Given the description of an element on the screen output the (x, y) to click on. 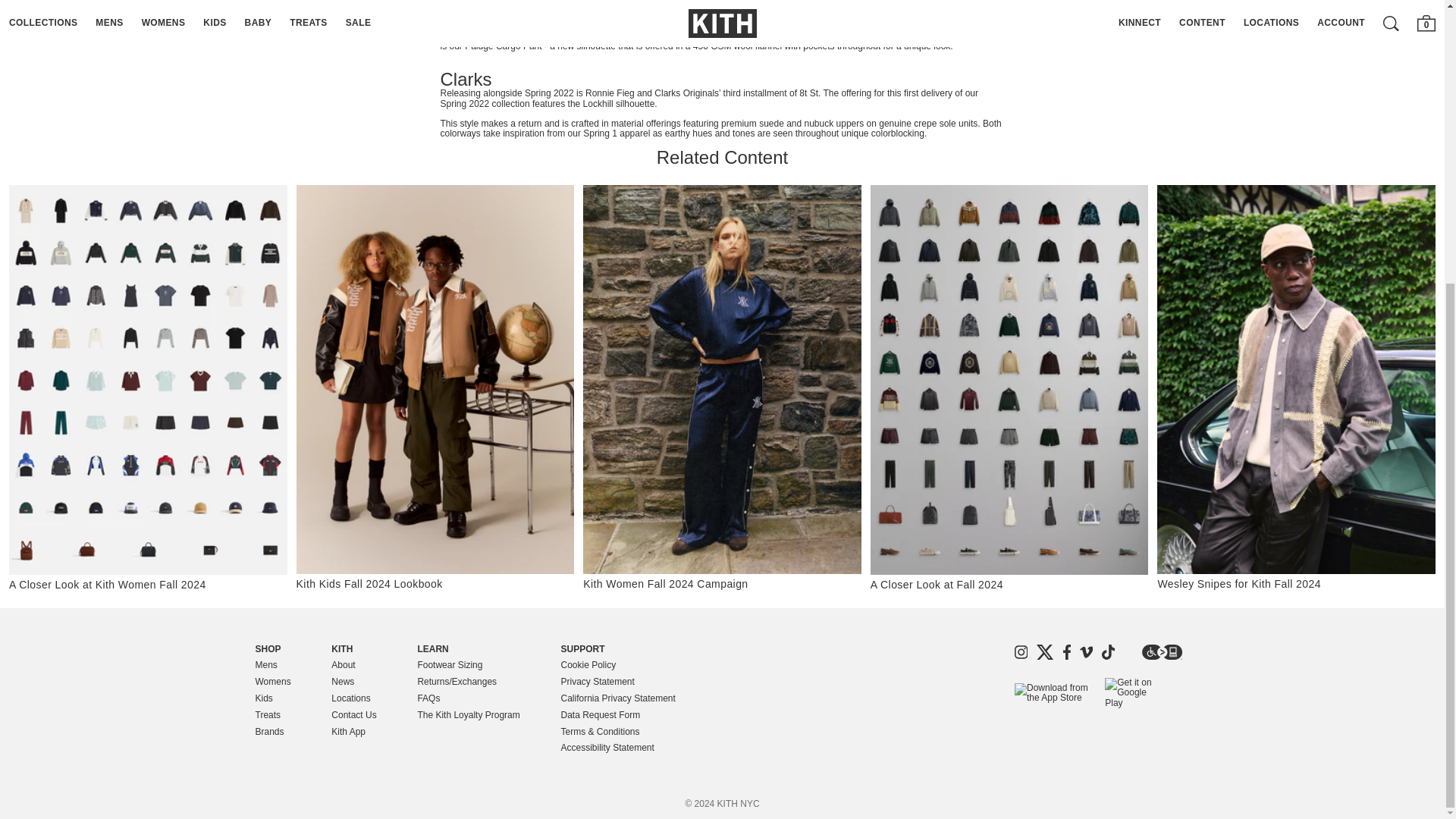
Instagram (1020, 652)
X (1044, 652)
Vimeo (1086, 652)
X (1044, 652)
essential Accessibility Icon (1161, 652)
